Given the description of an element on the screen output the (x, y) to click on. 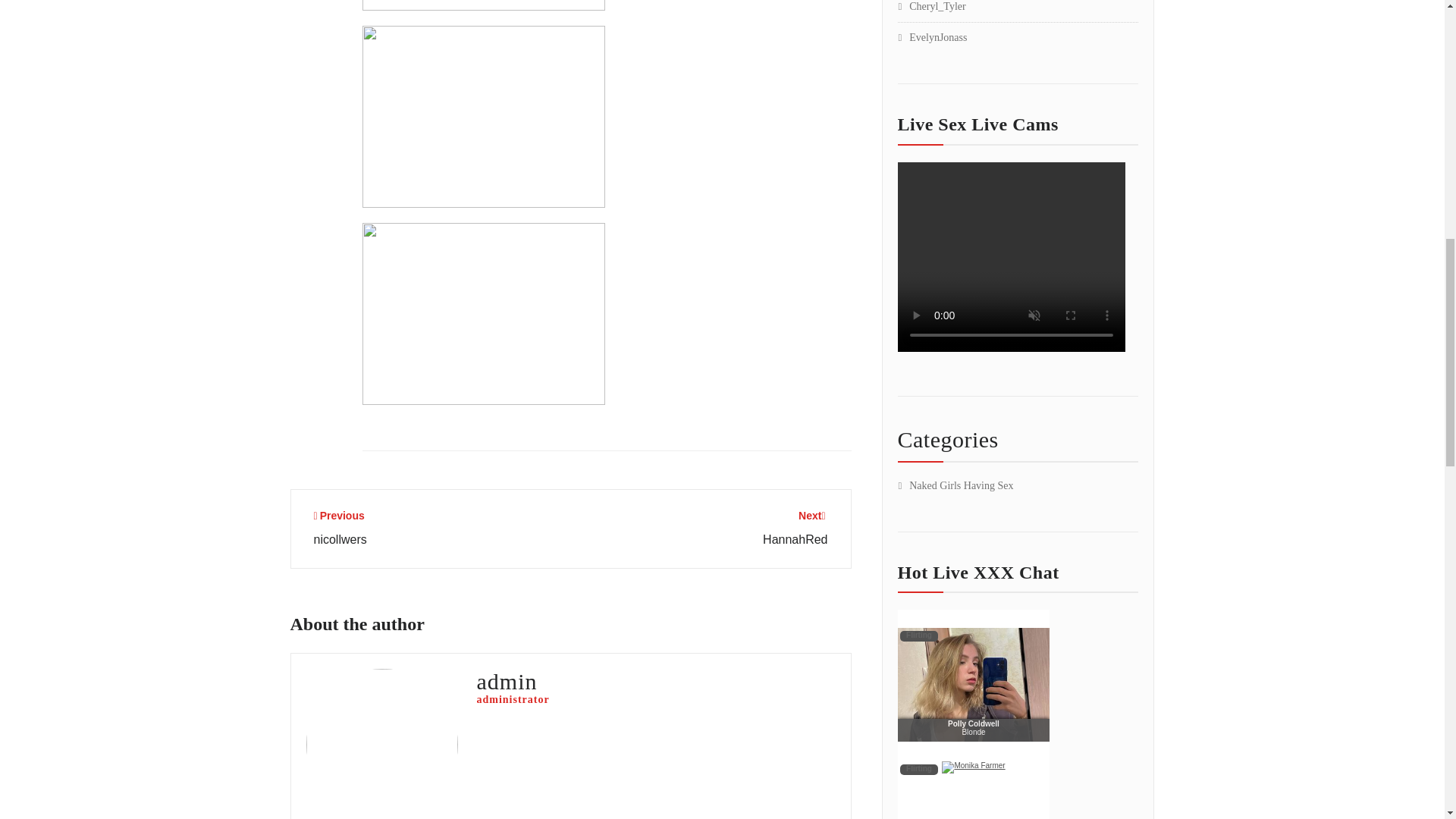
EvelynJonass (794, 528)
Naked Girls Having Sex (340, 528)
